Given the description of an element on the screen output the (x, y) to click on. 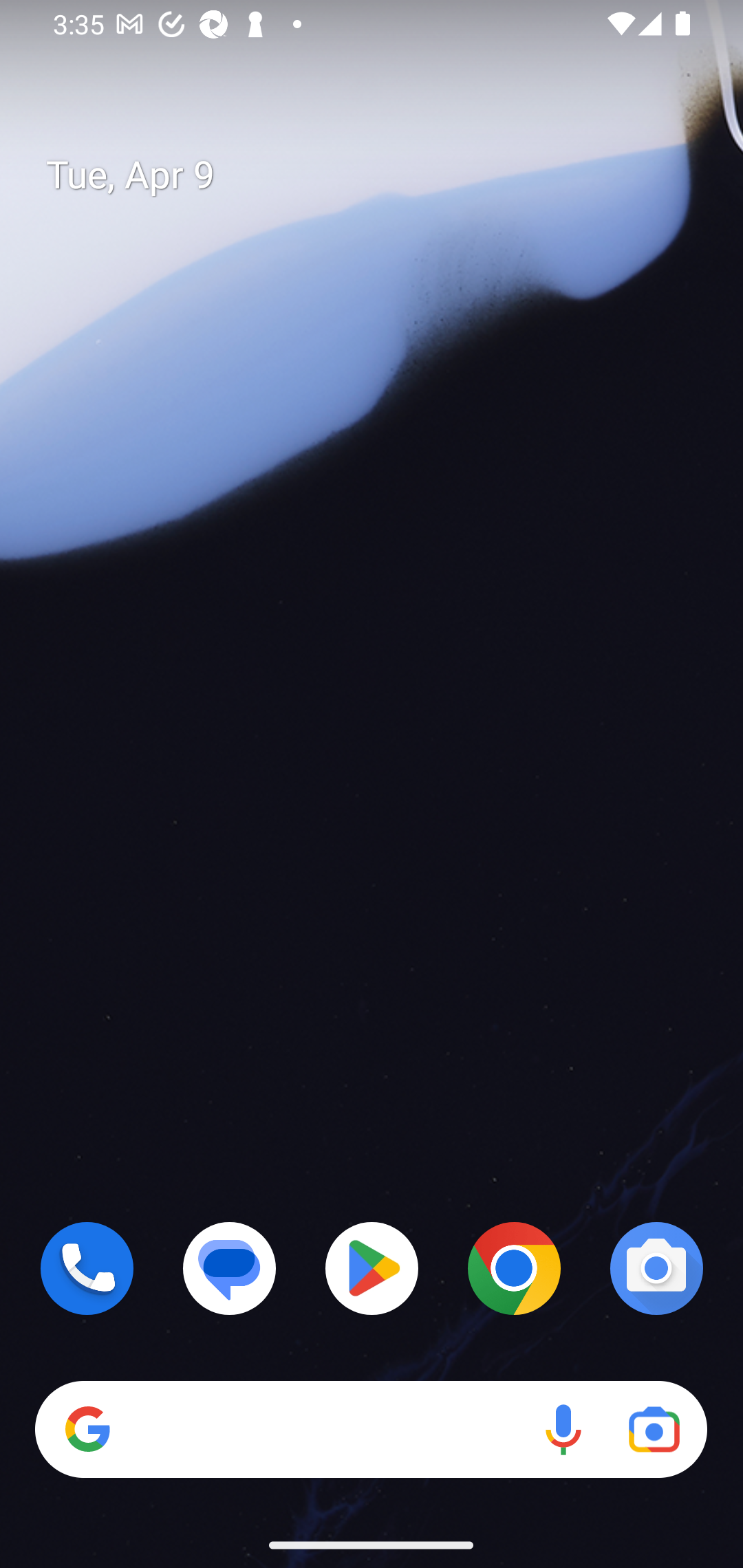
Tue, Apr 9 (386, 175)
Phone (86, 1268)
Messages (229, 1268)
Play Store (371, 1268)
Chrome (513, 1268)
Camera (656, 1268)
Search Voice search Google Lens (370, 1429)
Voice search (562, 1429)
Google Lens (653, 1429)
